Given the description of an element on the screen output the (x, y) to click on. 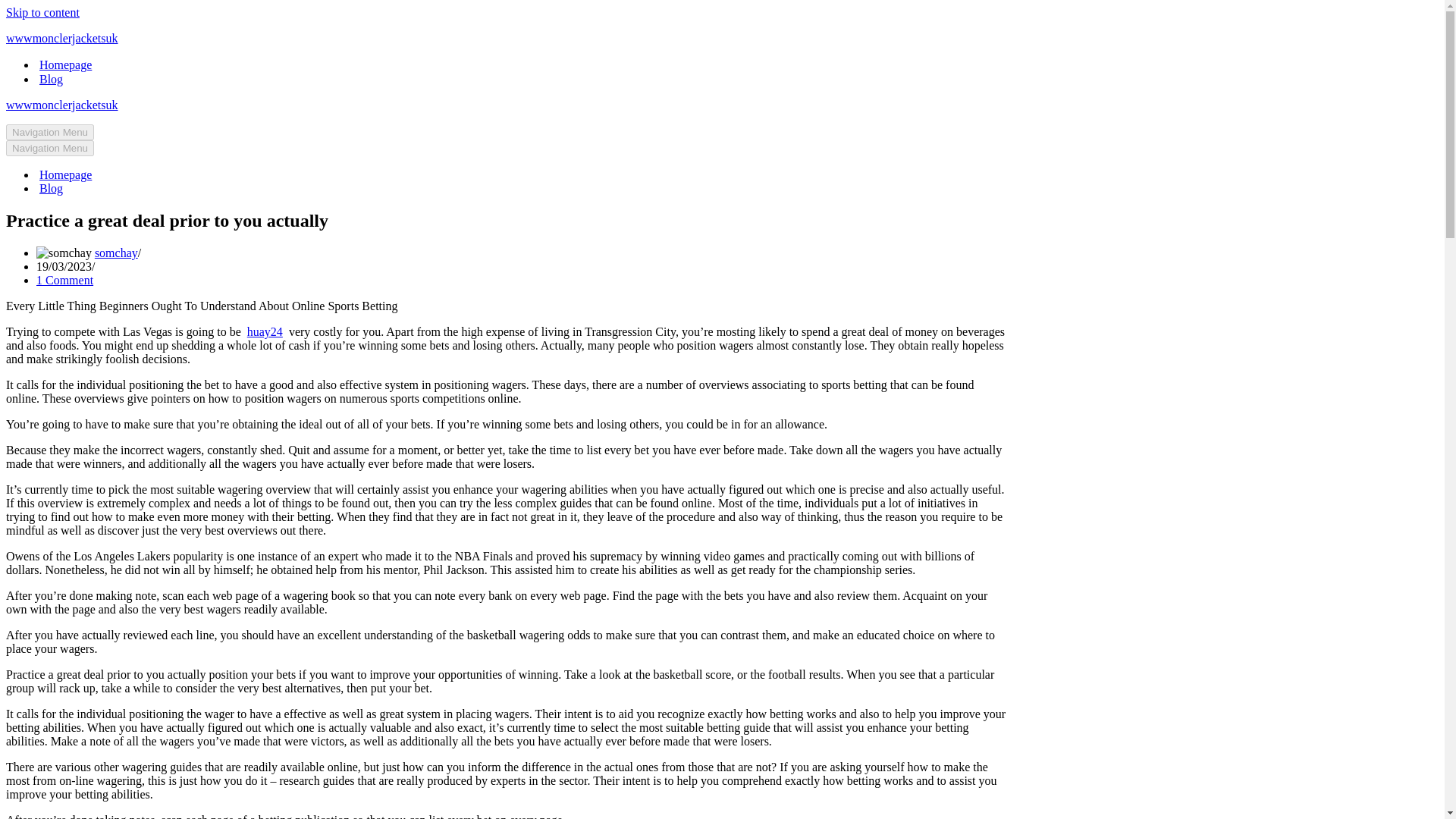
Skip to content (42, 11)
Posts by somchay (116, 252)
huay24 (264, 331)
somchay (116, 252)
Blog (50, 188)
Navigation Menu (49, 132)
Homepage (65, 64)
1 Comment (64, 279)
Blog (50, 79)
Navigation Menu (49, 148)
Homepage (65, 174)
